Given the description of an element on the screen output the (x, y) to click on. 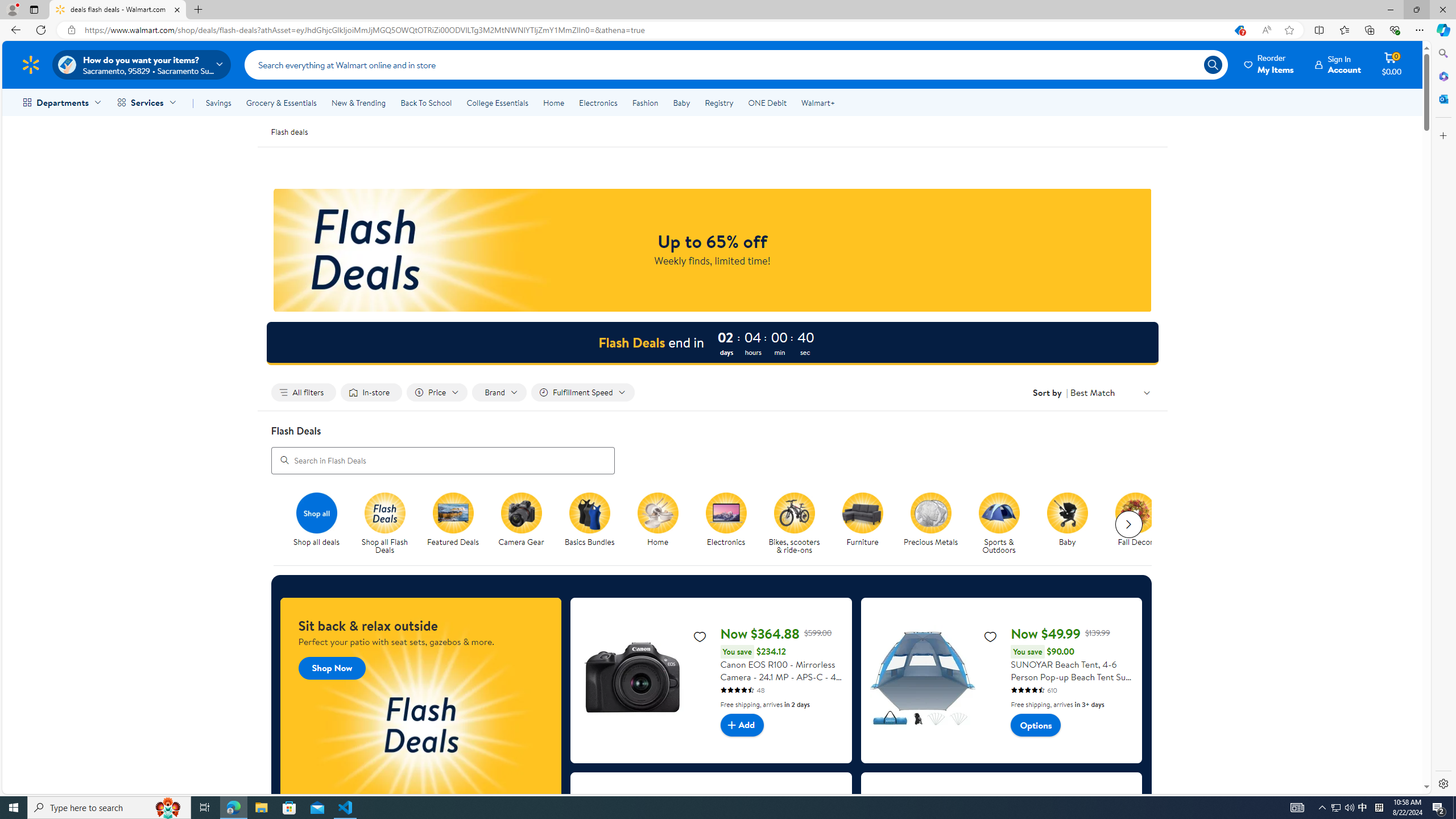
Bikes, scooters & ride-ons (798, 524)
Electronics Electronics (725, 519)
Back To School (425, 102)
Walmart+ (817, 102)
Walmart+ (817, 102)
Walmart Homepage (30, 64)
Baby (1071, 524)
ONE Debit (767, 102)
Featured Deals (452, 512)
Fall Decor (1139, 524)
